Given the description of an element on the screen output the (x, y) to click on. 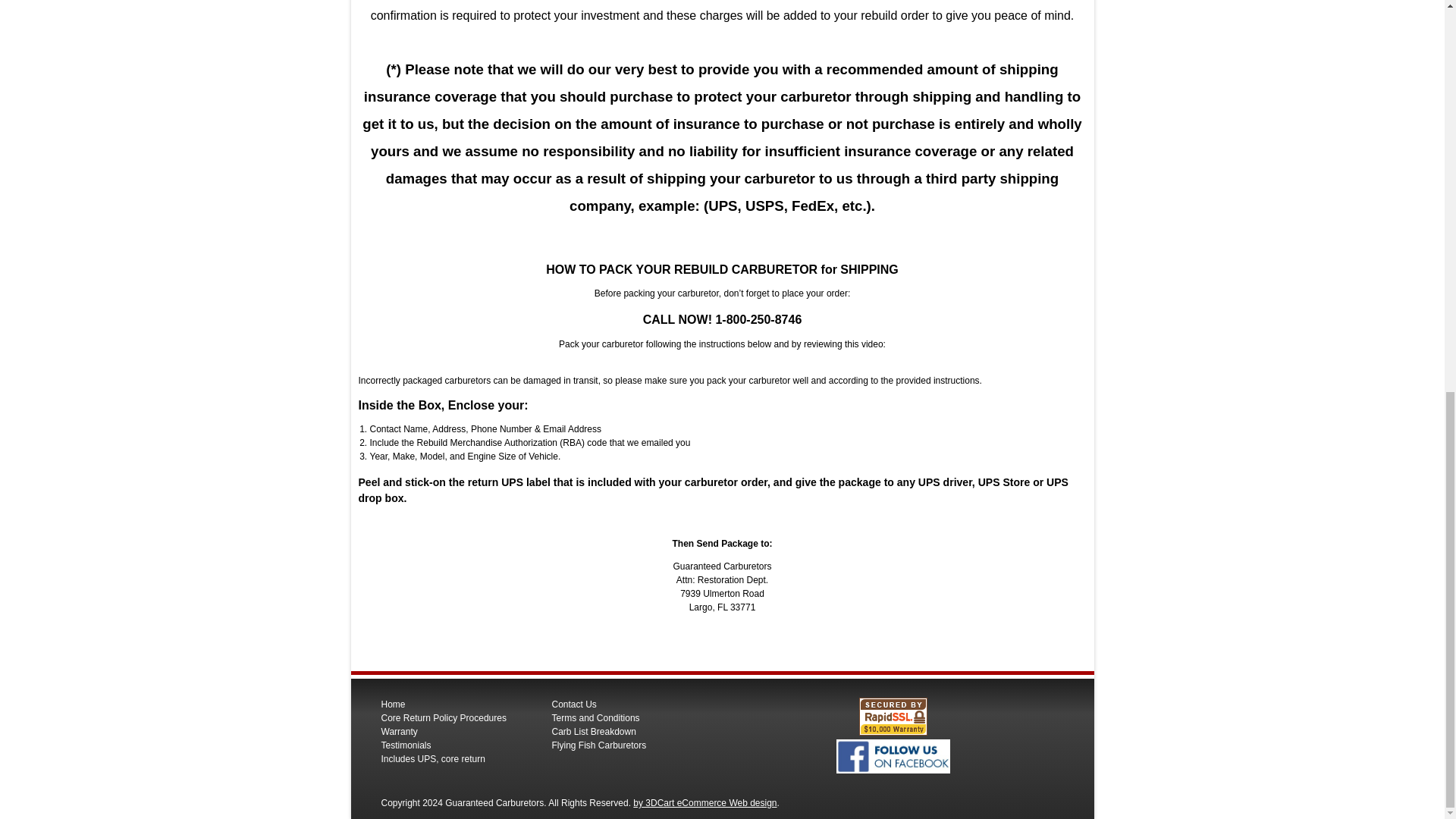
Includes UPS, core return (432, 758)
Testimonials (405, 745)
Core Return Policy Procedures (442, 717)
Flying Fish Carburetors (598, 745)
Carb List Breakdown (593, 731)
Terms and Conditions (595, 717)
Warranty (398, 731)
Home (392, 704)
by 3DCart eCommerce Web design (704, 802)
Contact Us (573, 704)
